Given the description of an element on the screen output the (x, y) to click on. 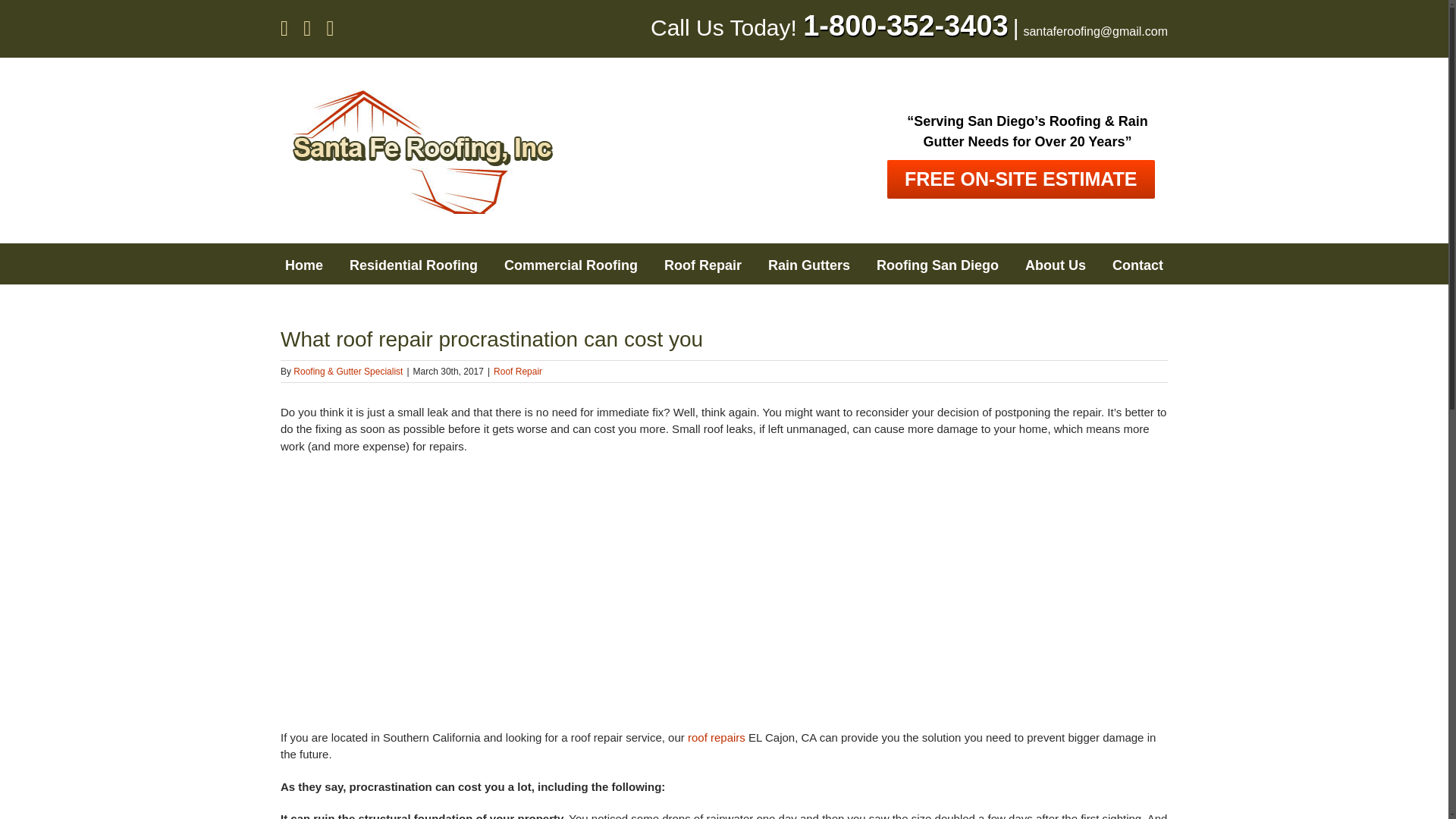
Contact (1137, 263)
Roofing San Diego (937, 263)
Residential Roofing (413, 263)
Home (304, 263)
roof repairs (716, 737)
FREE ON-SITE ESTIMATE (1020, 179)
Rain Gutters (809, 263)
Roof Repair (702, 263)
Roof Repair (517, 371)
Commercial Roofing (570, 263)
About Us (1055, 263)
